Given the description of an element on the screen output the (x, y) to click on. 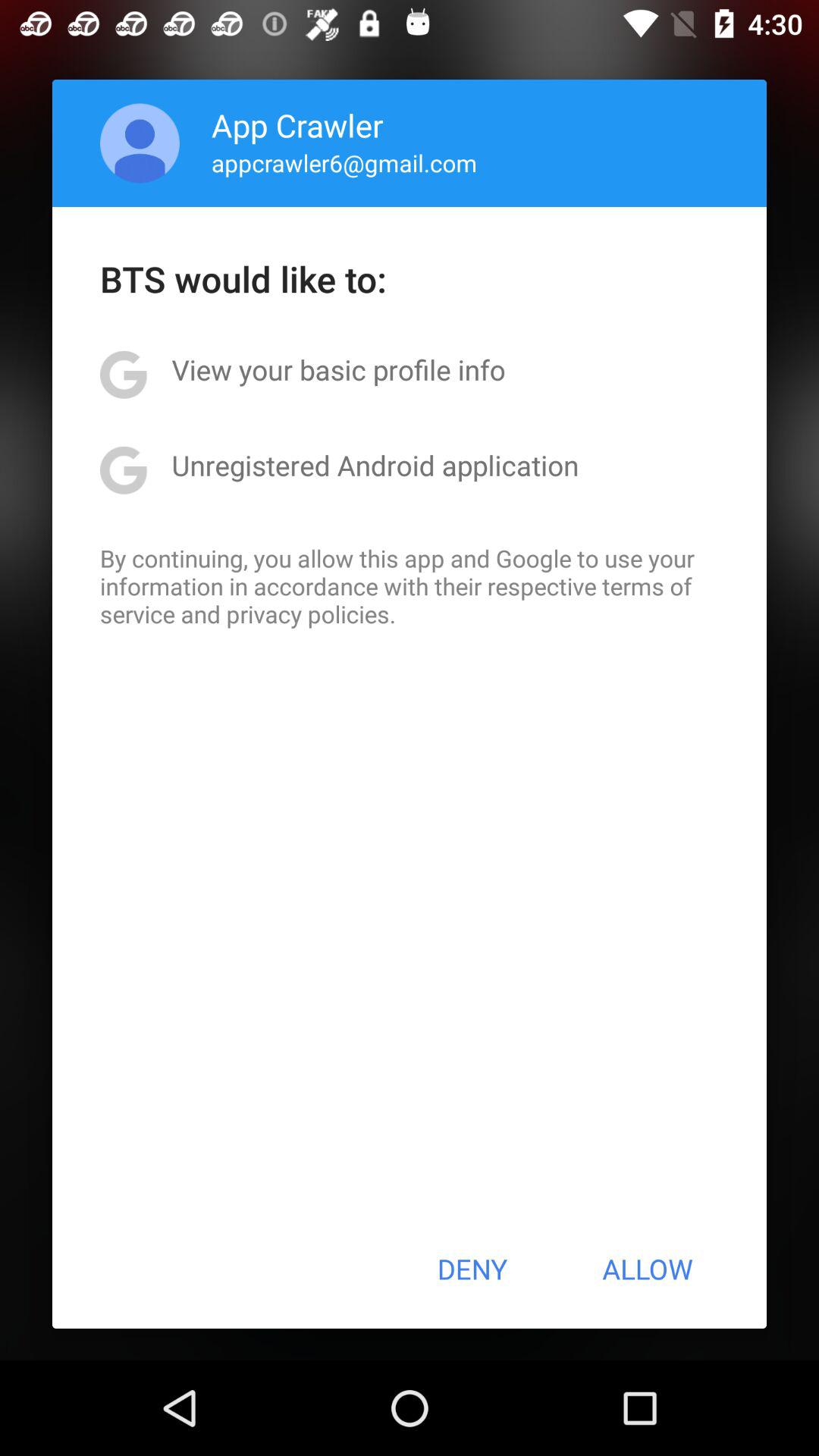
turn off the icon below the bts would like item (338, 369)
